Given the description of an element on the screen output the (x, y) to click on. 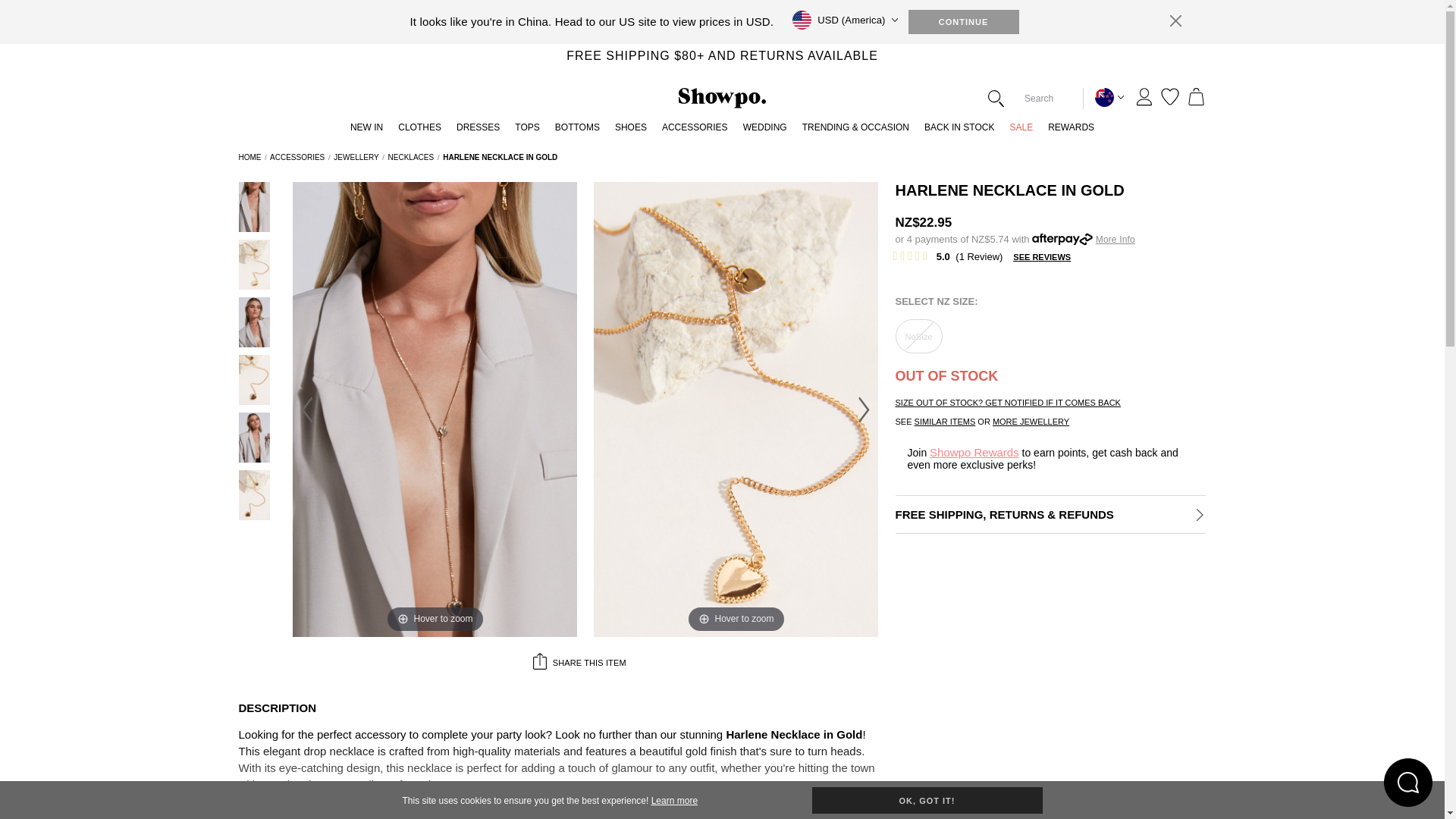
CONTINUE (963, 21)
NEW IN (366, 130)
